Given the description of an element on the screen output the (x, y) to click on. 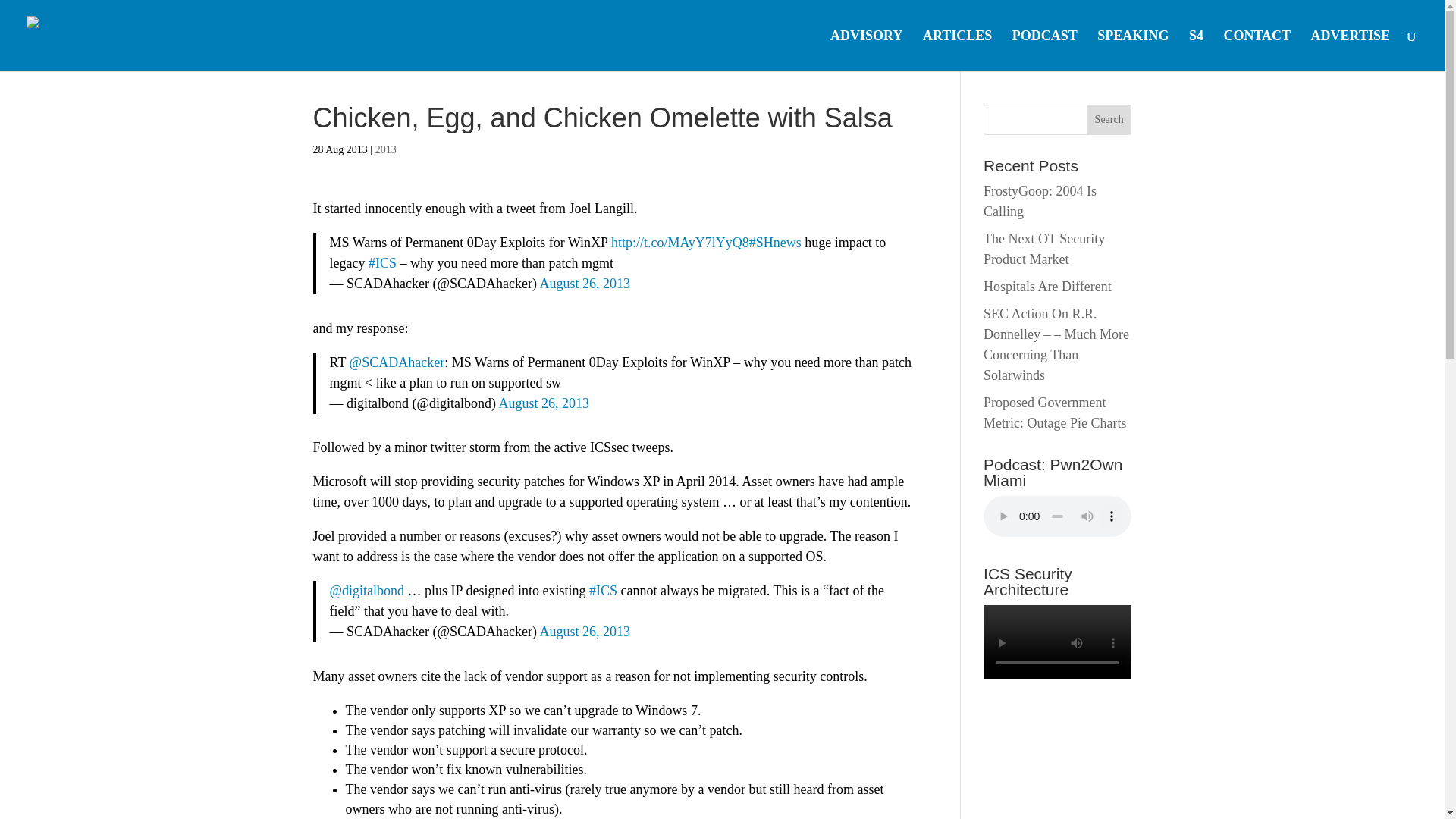
ARTICLES (957, 50)
August 26, 2013 (585, 283)
PODCAST (1044, 50)
August 26, 2013 (585, 631)
Search (1109, 119)
Hospitals Are Different (1048, 286)
August 26, 2013 (544, 403)
2013 (385, 149)
ADVERTISE (1350, 50)
ADVISORY (865, 50)
SPEAKING (1133, 50)
FrostyGoop: 2004 Is Calling (1040, 201)
CONTACT (1256, 50)
The Next OT Security Product Market (1044, 248)
Search (1109, 119)
